Given the description of an element on the screen output the (x, y) to click on. 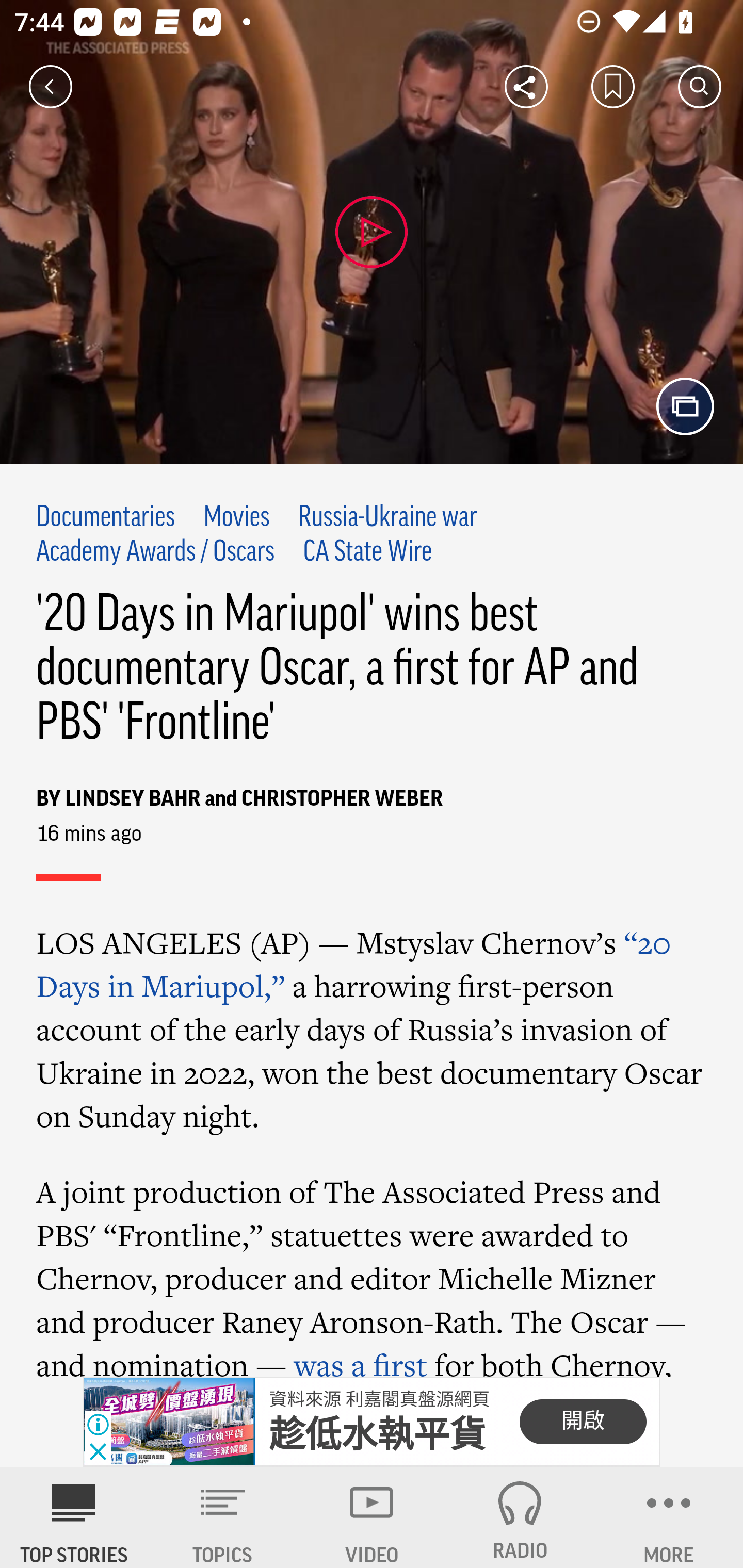
Documentaries (106, 518)
Movies (236, 518)
Russia-Ukraine war (387, 518)
Academy Awards / Oscars (156, 552)
CA State Wire (367, 552)
“20 Days in Mariupol,” (353, 963)
was a first (359, 1359)
B29121719 (168, 1421)
資料來源 利嘉閣真盤源網頁 (379, 1399)
開啟 (582, 1421)
趁低水執平貨 (377, 1435)
AP News TOP STORIES (74, 1517)
TOPICS (222, 1517)
VIDEO (371, 1517)
RADIO (519, 1517)
MORE (668, 1517)
